Given the description of an element on the screen output the (x, y) to click on. 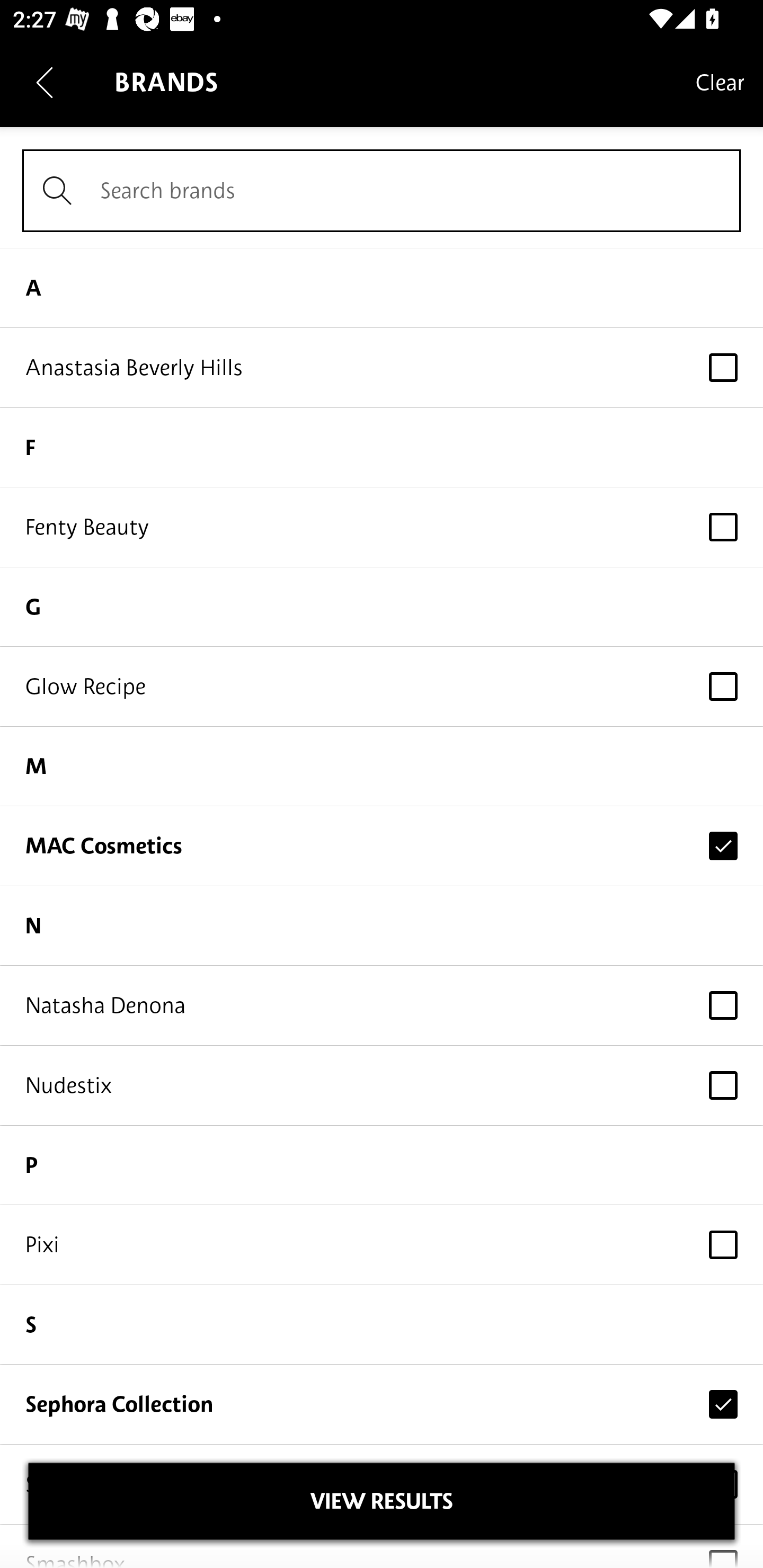
Navigate up (44, 82)
Clear (719, 81)
Search brands (381, 190)
A (381, 287)
Anastasia Beverly Hills (381, 367)
F (381, 446)
Fenty Beauty (381, 526)
G (381, 606)
Glow Recipe (381, 685)
M (381, 766)
MAC Cosmetics (381, 845)
N (381, 925)
Natasha Denona (381, 1005)
Nudestix (381, 1085)
P (381, 1164)
Pixi (381, 1244)
S (381, 1324)
Sephora Collection (381, 1404)
CLOSE (381, 1501)
